Given the description of an element on the screen output the (x, y) to click on. 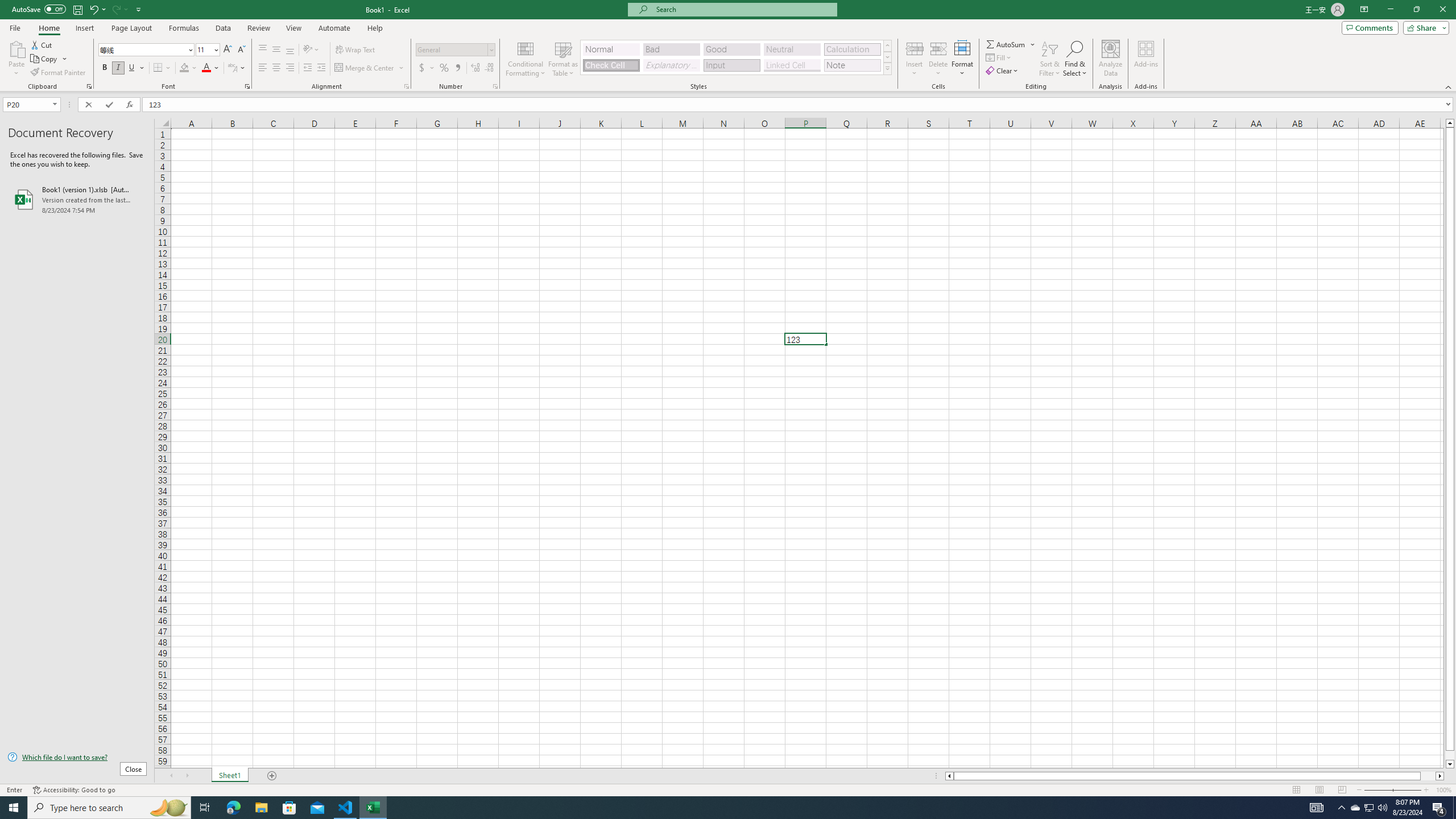
Neutral (791, 49)
Font Color RGB(255, 0, 0) (206, 67)
Page Break Preview (1342, 790)
Row Down (887, 56)
Decrease Font Size (240, 49)
Cut (42, 44)
Format as Table (563, 58)
Delete (938, 58)
Cell Styles (887, 68)
Formula Bar (799, 104)
Class: NetUIScrollBar (1194, 775)
